Given the description of an element on the screen output the (x, y) to click on. 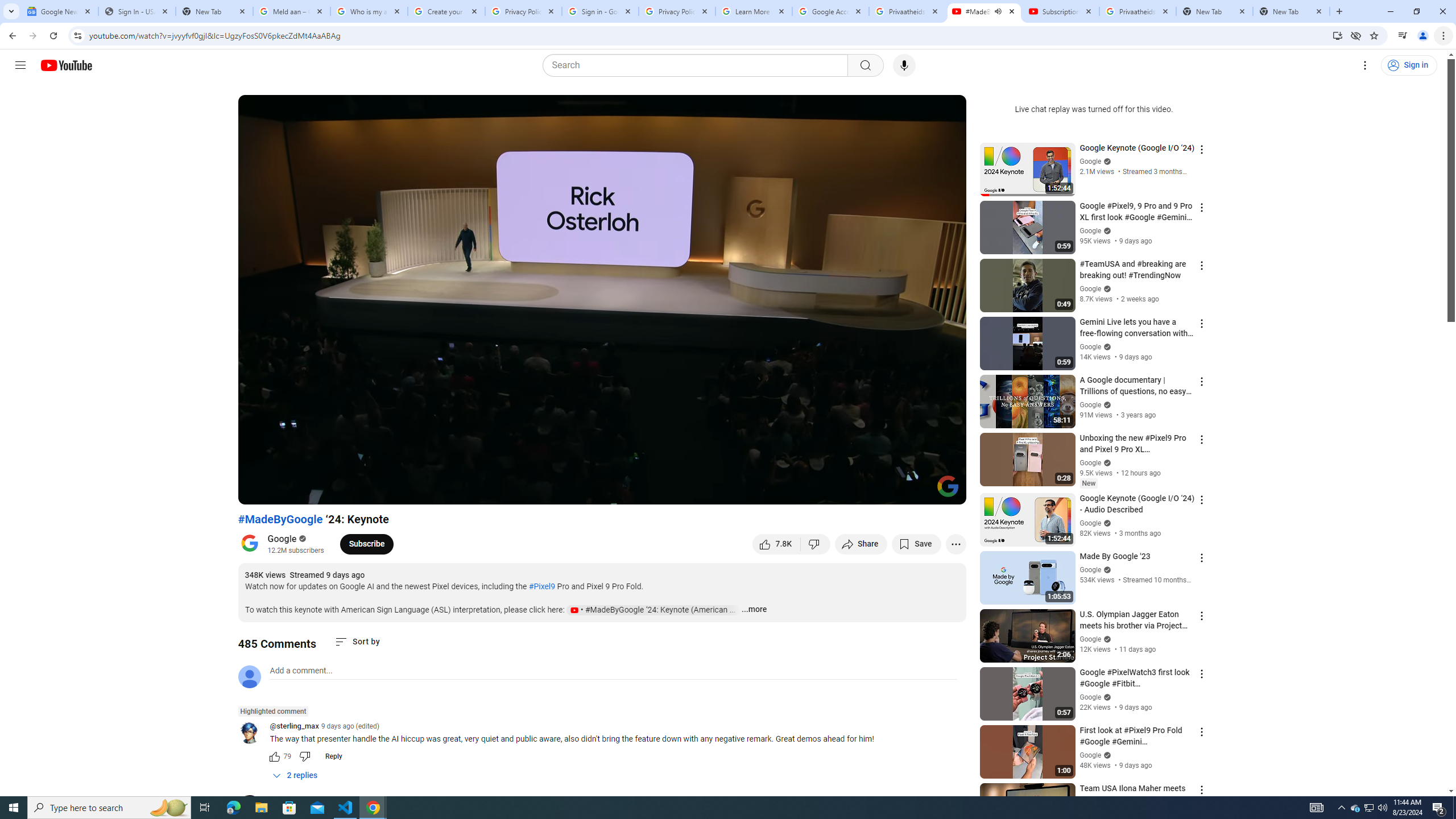
Channel watermark (947, 486)
Action menu (1200, 789)
New (1087, 483)
Guide (20, 65)
Autoplay is on (808, 490)
Third-party cookies blocked (1355, 35)
Mute tab (997, 10)
like this video along with 7,829 other people (776, 543)
9 days ago (314, 800)
Reply (333, 755)
